Given the description of an element on the screen output the (x, y) to click on. 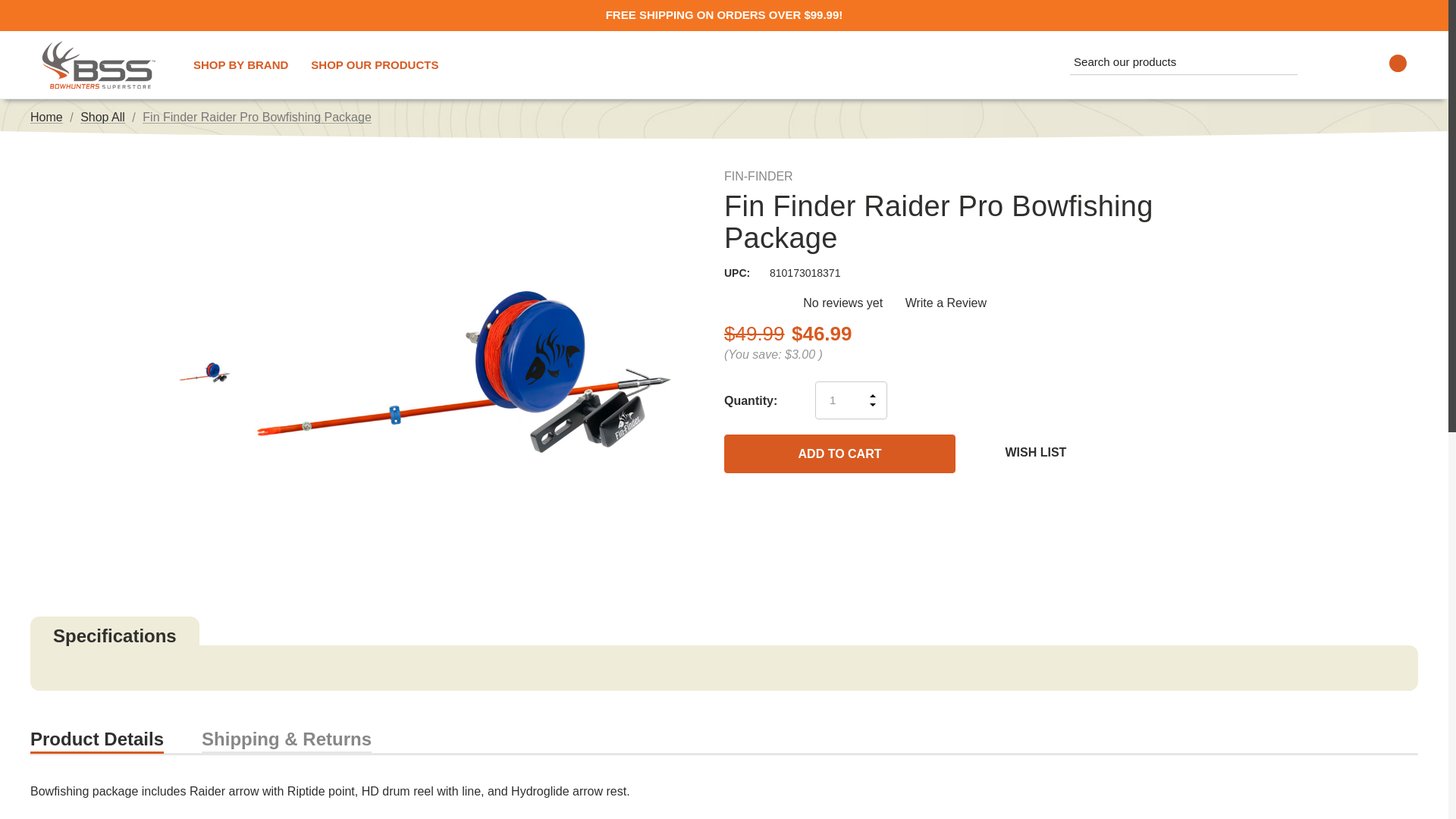
Add to Cart (839, 453)
Search (1283, 60)
Bowhunters Superstore (98, 64)
SHOP BY BRAND (240, 64)
1 (850, 400)
SHOP OUR PRODUCTS (374, 64)
